Given the description of an element on the screen output the (x, y) to click on. 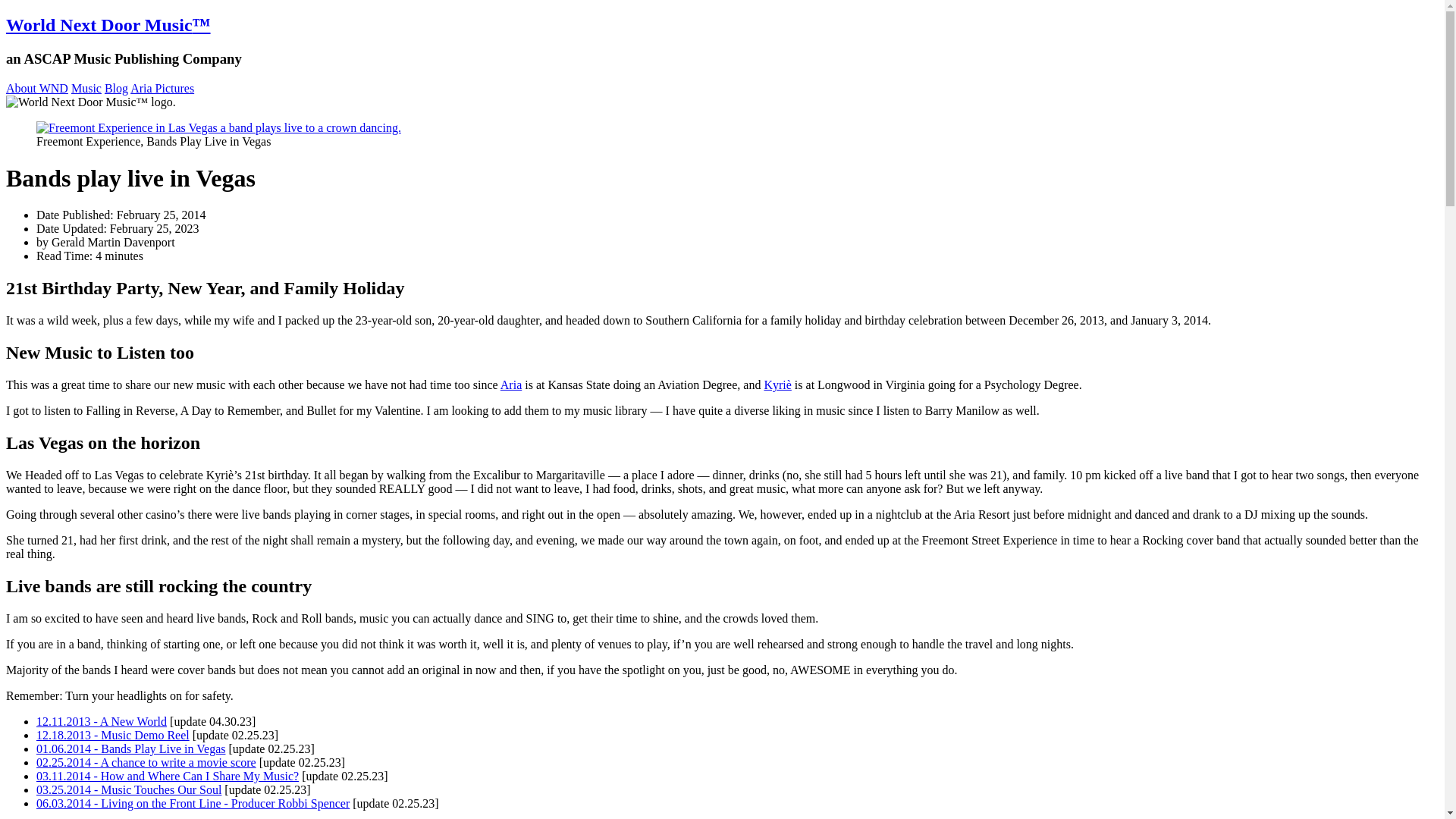
Blog (116, 88)
Aria (510, 384)
12.18.2013 - Music Demo Reel (112, 735)
03.11.2014 - How and Where Can I Share My Music? (167, 775)
Music Maker Corner Blog (116, 88)
Living on the Front Line - Producer Robbi Spencer (192, 802)
01.06.2014 - Bands Play Live in Vegas (130, 748)
Music Touches Our Soul (128, 789)
About WND (36, 88)
Aria Davenport (510, 384)
Bands play live in Vegas (130, 748)
Aria Pictures Making Movies with a Purpose (162, 88)
02.25.2014 - A chance to write a movie score (146, 762)
Music (86, 88)
